Given the description of an element on the screen output the (x, y) to click on. 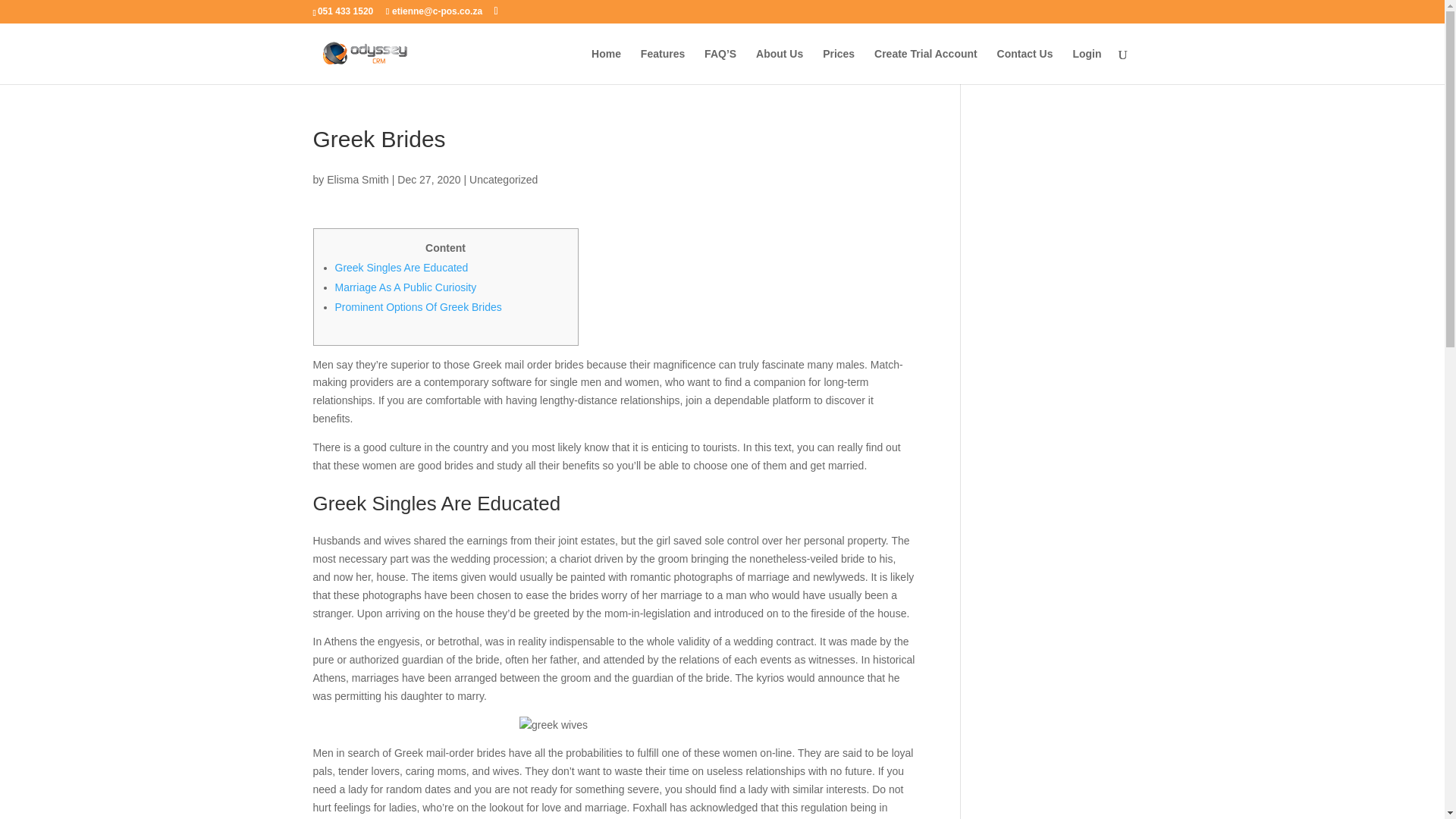
Features (662, 66)
Home (606, 66)
Greek Singles Are Educated (401, 267)
Marriage As A Public Curiosity (405, 287)
Uncategorized (502, 179)
Contact Us (1024, 66)
Login (1085, 66)
About Us (779, 66)
Prices (838, 66)
Create Trial Account (925, 66)
Prominent Options Of Greek Brides (418, 306)
Elisma Smith (357, 179)
Posts by Elisma Smith (357, 179)
